Given the description of an element on the screen output the (x, y) to click on. 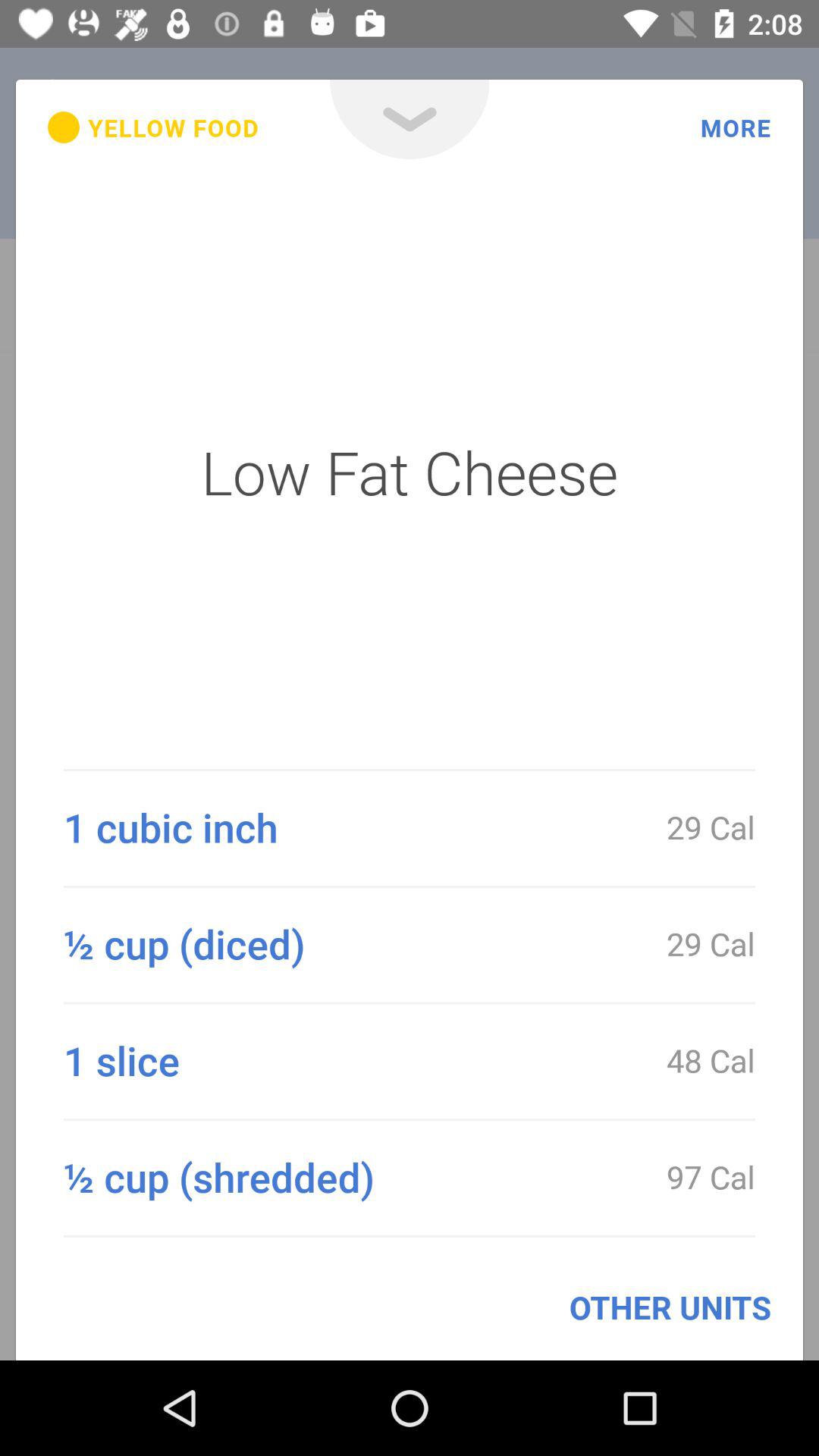
scroll until the yellow food icon (152, 127)
